Given the description of an element on the screen output the (x, y) to click on. 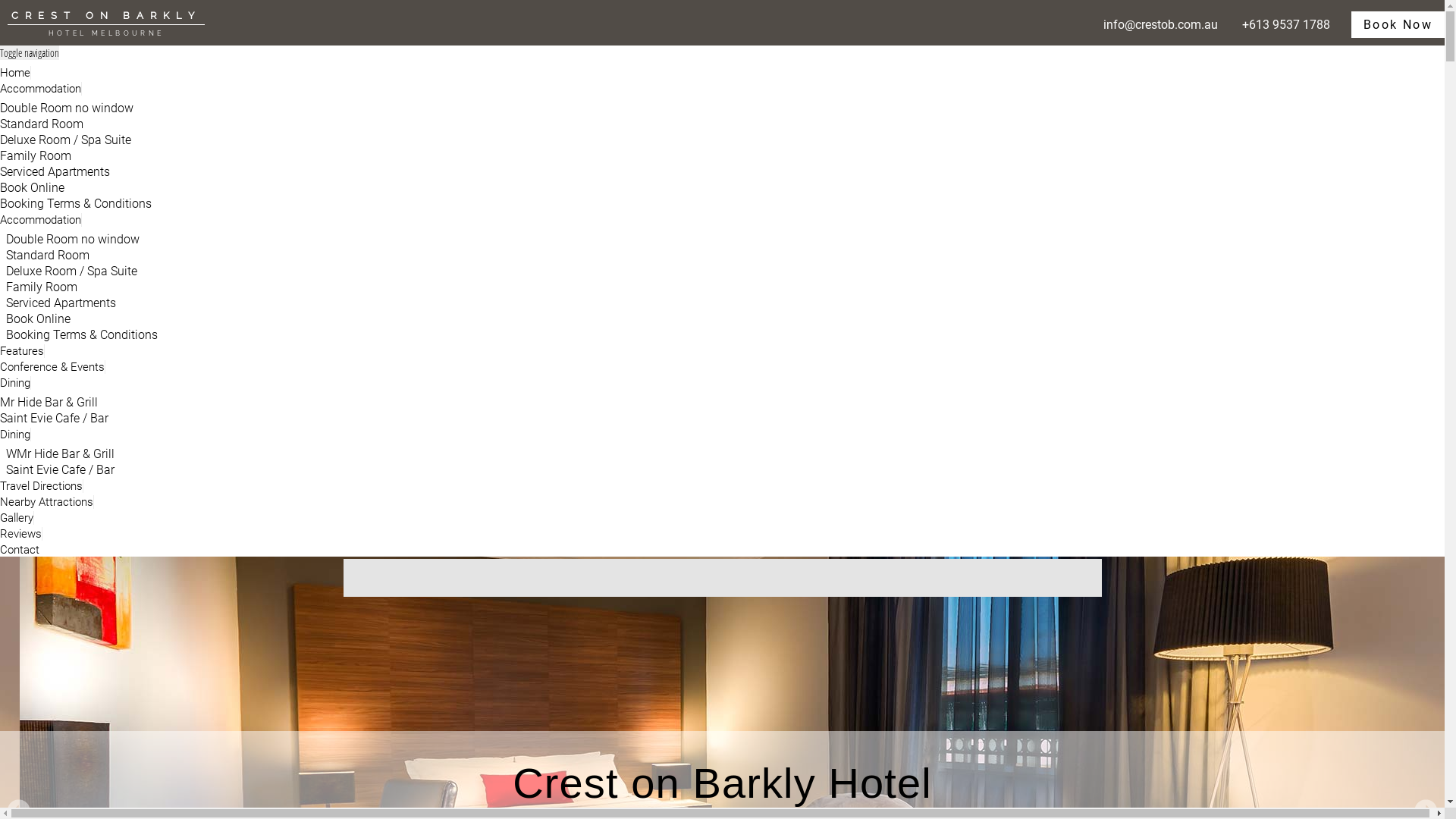
Book Online Element type: text (32, 187)
Book Online Element type: text (38, 318)
Family Room Element type: text (35, 155)
Serviced Apartments Element type: text (61, 302)
Standard Room Element type: text (47, 254)
Home Element type: text (15, 72)
Toggle navigation Element type: text (29, 52)
Nearby Attractions Element type: text (47, 501)
Dining Element type: text (15, 434)
Family Room Element type: text (41, 286)
Booking Terms & Conditions Element type: text (81, 334)
Book Now Element type: text (1397, 24)
Accommodation Element type: text (40, 88)
Serviced Apartments Element type: text (54, 171)
WMr Hide Bar & Grill Element type: text (60, 453)
+613 9537 1788 Element type: text (1286, 24)
Accommodation Element type: text (40, 219)
Double Room no window Element type: text (72, 239)
Features Element type: text (22, 350)
Conference & Events Element type: text (52, 366)
Dining Element type: text (15, 382)
Saint Evie Cafe / Bar Element type: text (54, 418)
Booking Terms & Conditions Element type: text (75, 203)
Double Room no window Element type: text (66, 107)
Contact Element type: text (19, 549)
Deluxe Room / Spa Suite Element type: text (71, 270)
Deluxe Room / Spa Suite Element type: text (65, 139)
Saint Evie Cafe / Bar Element type: text (60, 469)
Mr Hide Bar & Grill Element type: text (48, 402)
Standard Room Element type: text (41, 123)
Travel Directions Element type: text (41, 485)
info@crestob.com.au Element type: text (1160, 24)
Gallery Element type: text (17, 517)
Reviews Element type: text (21, 533)
